Given the description of an element on the screen output the (x, y) to click on. 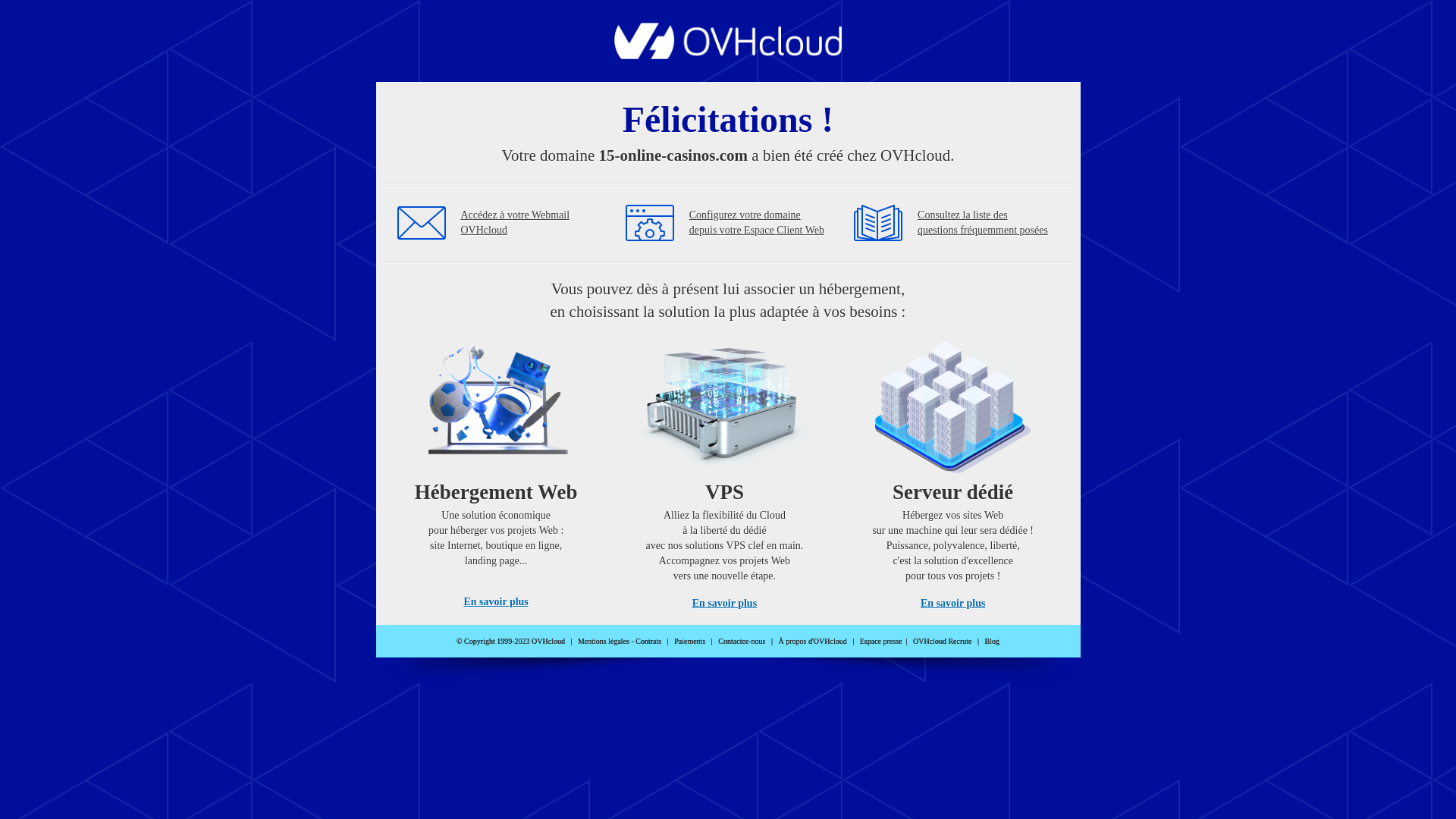
En savoir plus Element type: text (724, 602)
OVHcloud Recrute Element type: text (942, 641)
VPS Element type: hover (724, 469)
En savoir plus Element type: text (495, 601)
OVHcloud Element type: hover (727, 54)
Espace presse Element type: text (880, 641)
Contactez-nous Element type: text (741, 641)
En savoir plus Element type: text (952, 602)
Paiements Element type: text (689, 641)
Blog Element type: text (992, 641)
Configurez votre domaine
depuis votre Espace Client Web Element type: text (756, 222)
